Given the description of an element on the screen output the (x, y) to click on. 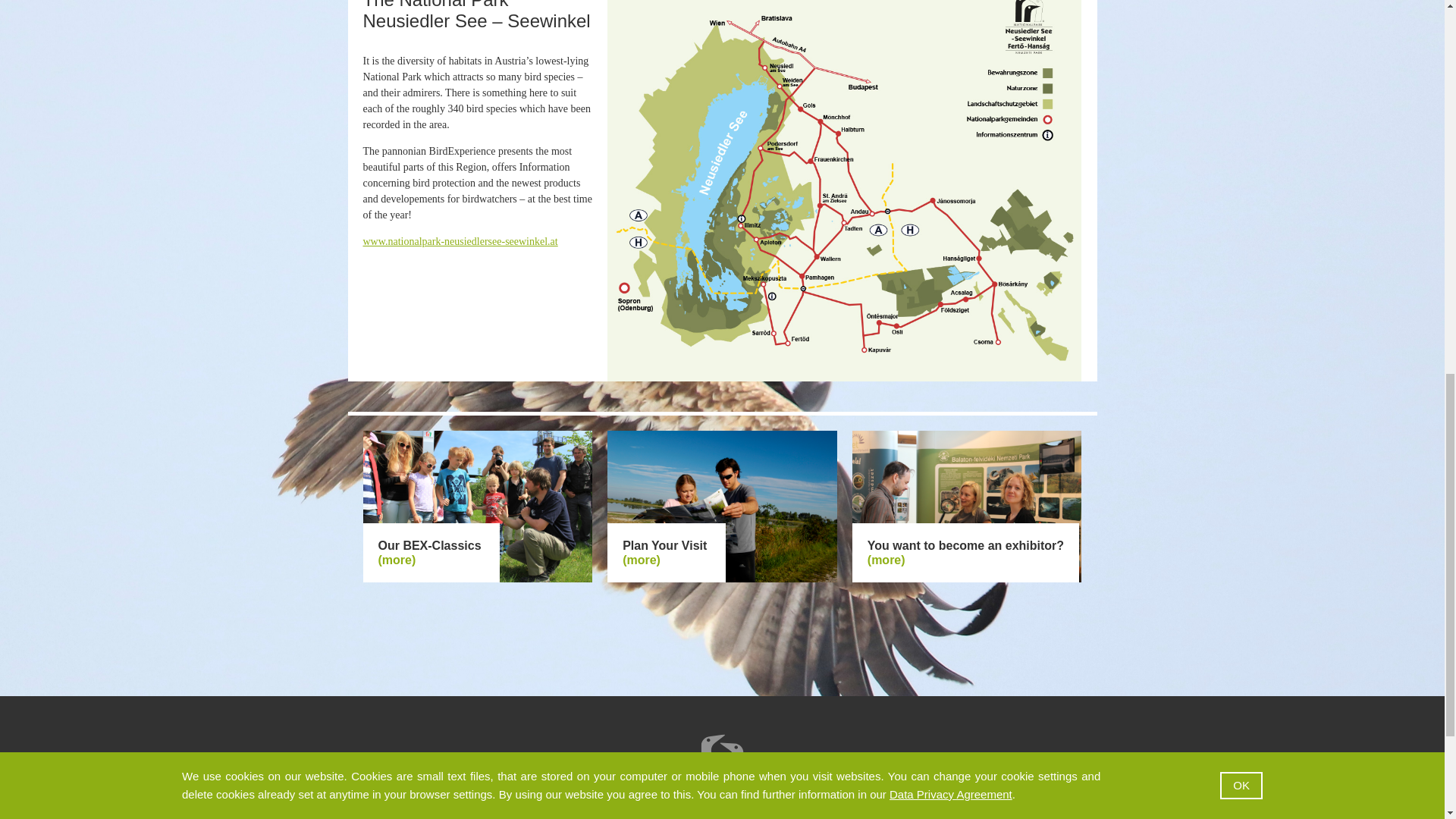
BEX-Classics (395, 559)
www.nationalpark-neusiedlersee-seewinkel.at (459, 241)
Aussteller Anmeldung (886, 559)
Directions (642, 559)
www.nationalpark-neusiedlersee-seewinkel.at (459, 241)
